Given the description of an element on the screen output the (x, y) to click on. 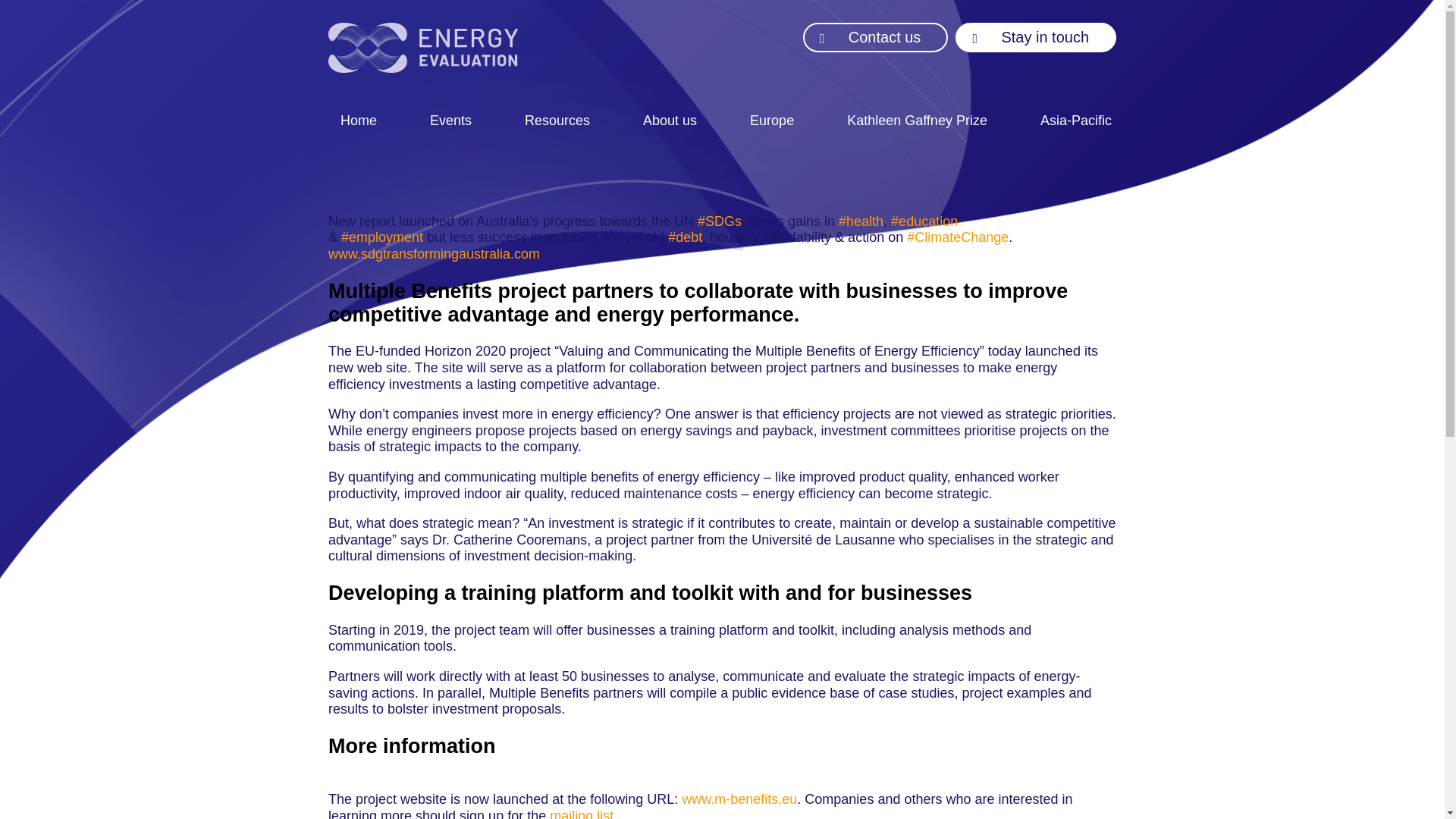
www.m-benefits.eu (738, 798)
About us (669, 120)
Home (358, 120)
mailing list (581, 813)
Stay in touch (1035, 37)
Events (450, 120)
Resources (557, 120)
www.sdgtransformingaustralia.com (434, 253)
Contact us (876, 37)
Europe (772, 120)
